Given the description of an element on the screen output the (x, y) to click on. 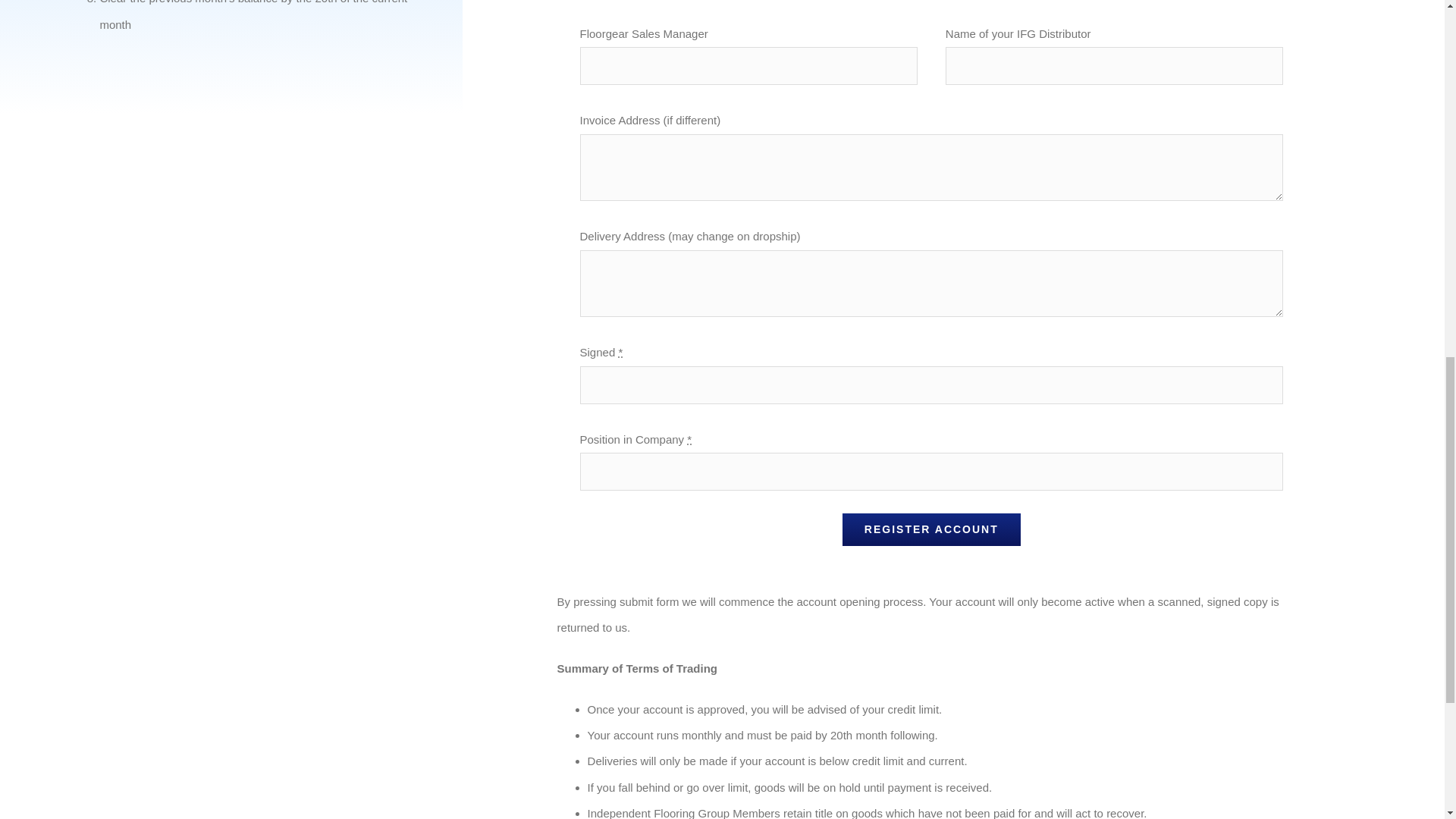
REGISTER ACCOUNT (931, 529)
